Given the description of an element on the screen output the (x, y) to click on. 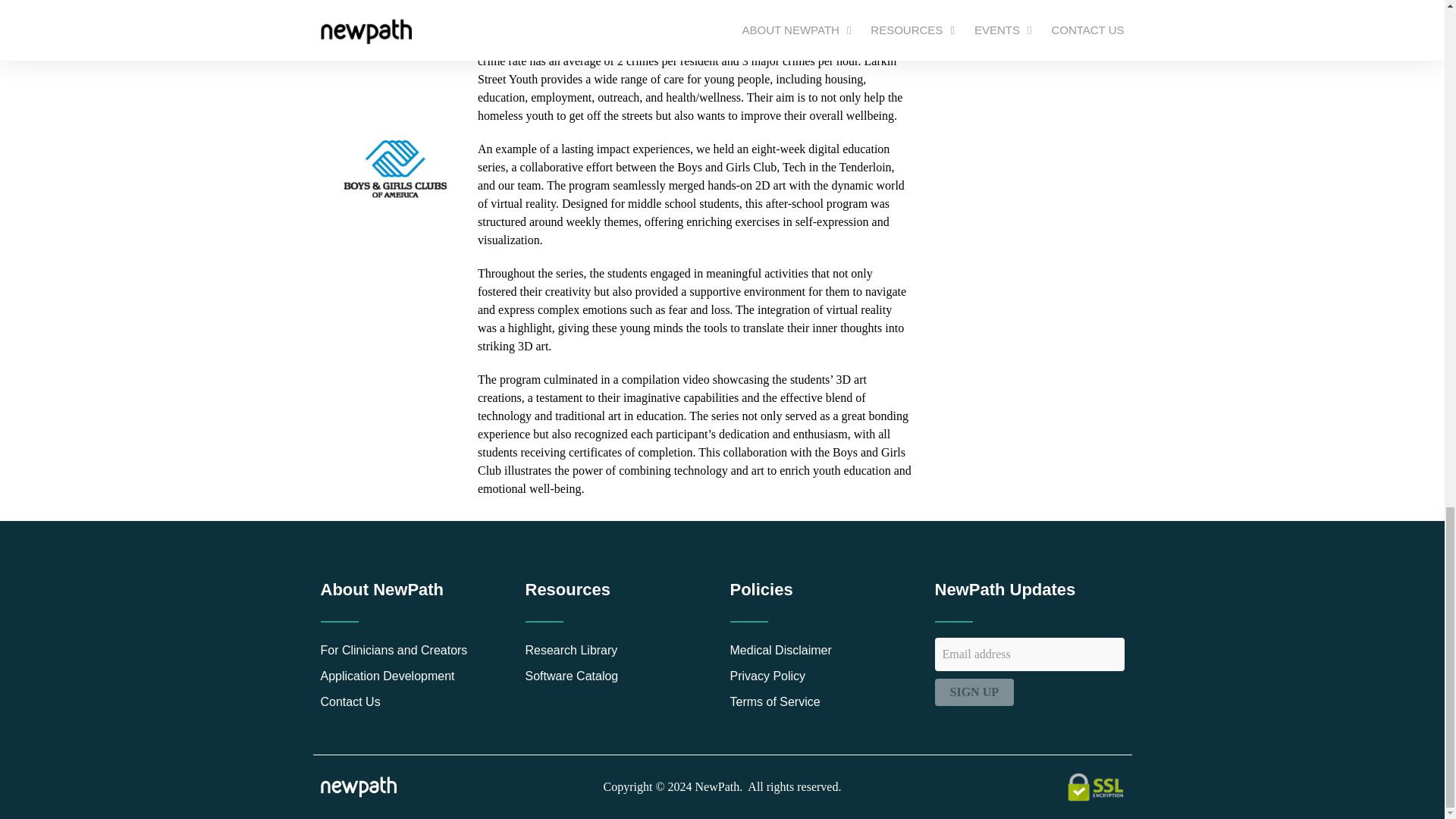
newpath (358, 786)
SSL (1095, 787)
